Given the description of an element on the screen output the (x, y) to click on. 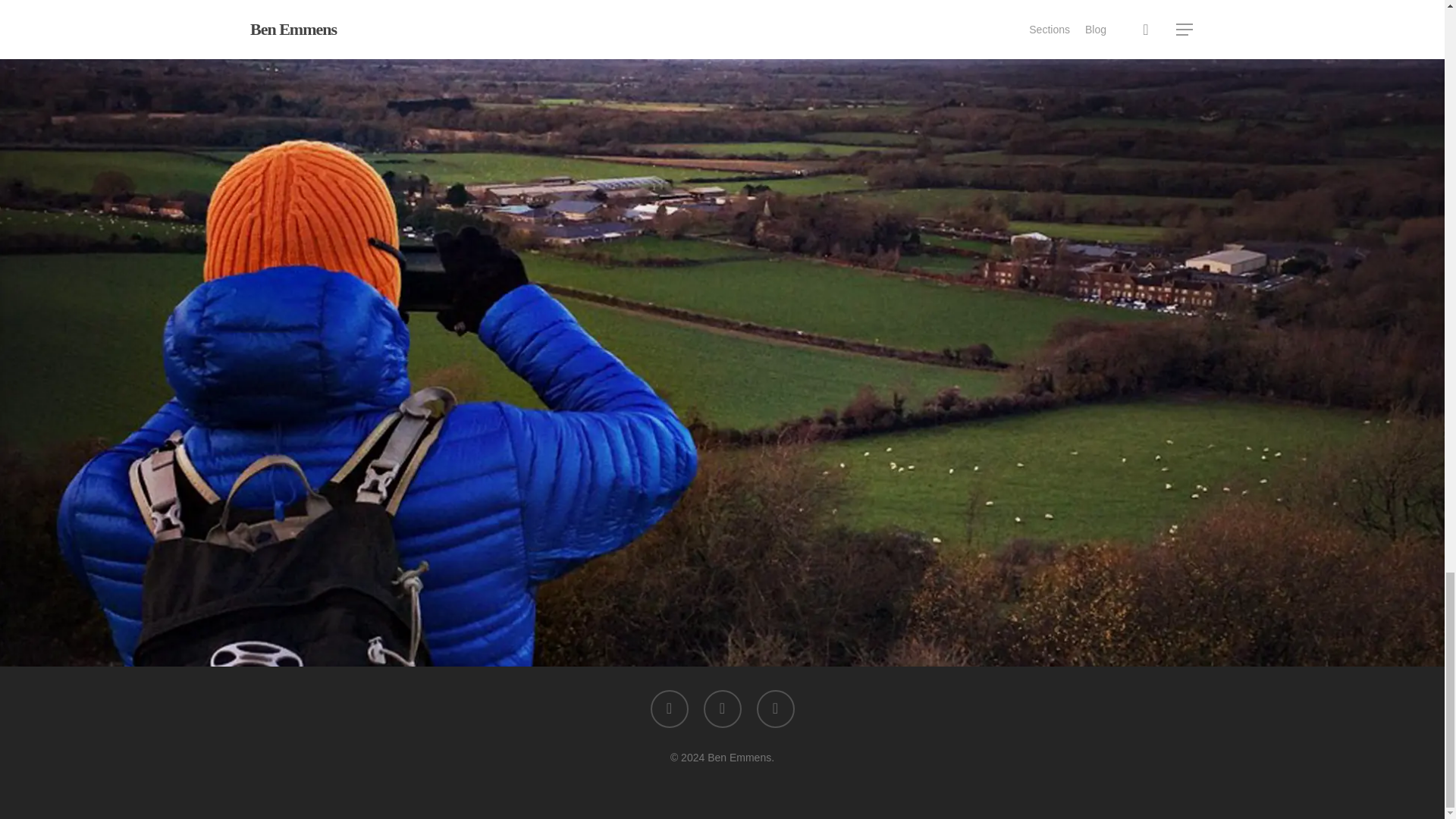
Submit (464, 580)
twitter (669, 709)
instagram (775, 709)
linkedin (722, 709)
